Given the description of an element on the screen output the (x, y) to click on. 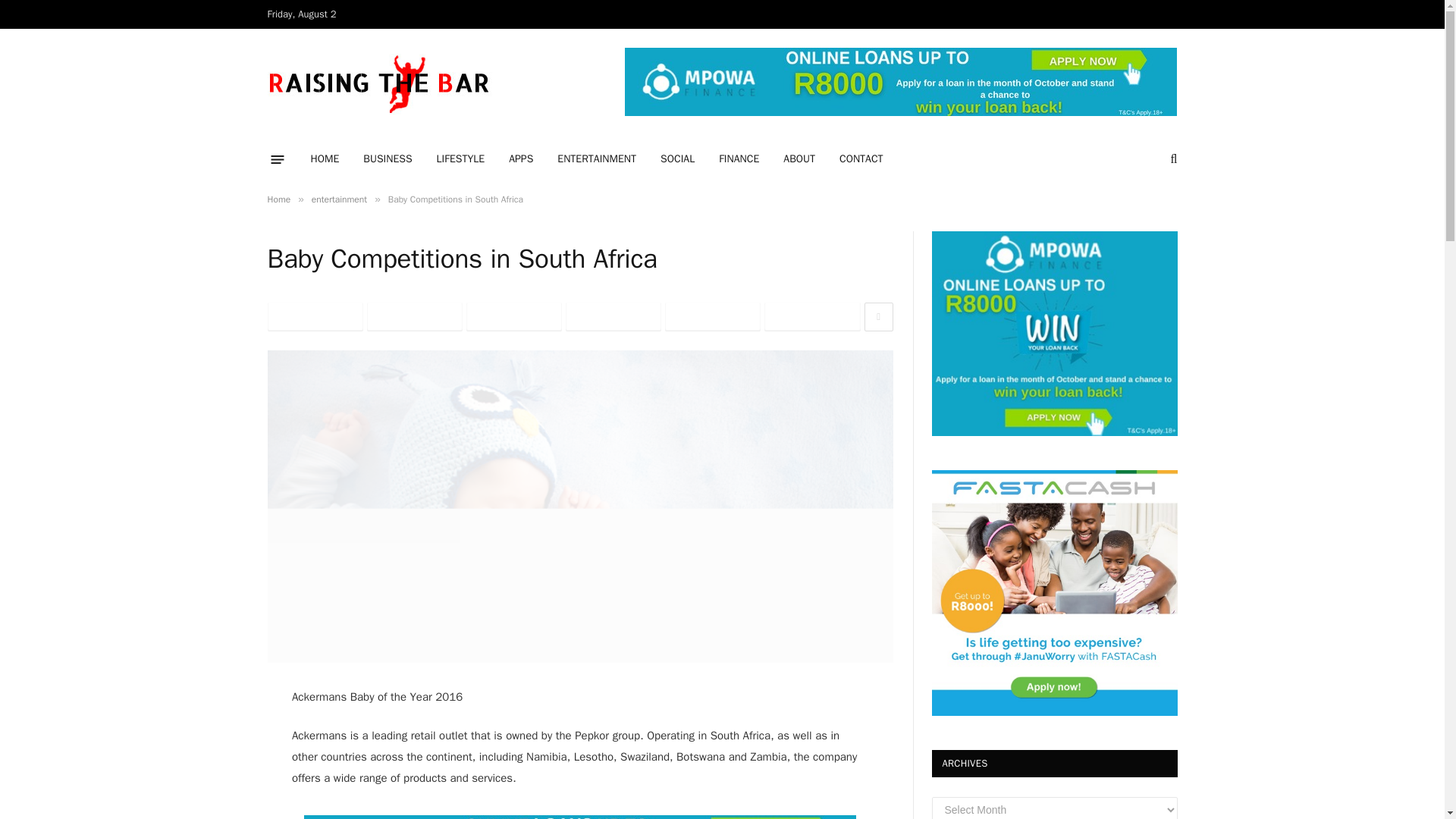
Share on Twitter (314, 316)
BUSINESS (386, 159)
Home (277, 199)
LinkedIn (613, 316)
RtB (380, 83)
entertainment (338, 199)
Facebook (314, 316)
APPS (520, 159)
Share on Twitter (414, 316)
LIFESTYLE (461, 159)
HOME (325, 159)
Share on Tumblr (712, 316)
Twitter (414, 316)
ENTERTAINMENT (595, 159)
Share on LinkedIn (613, 316)
